Given the description of an element on the screen output the (x, y) to click on. 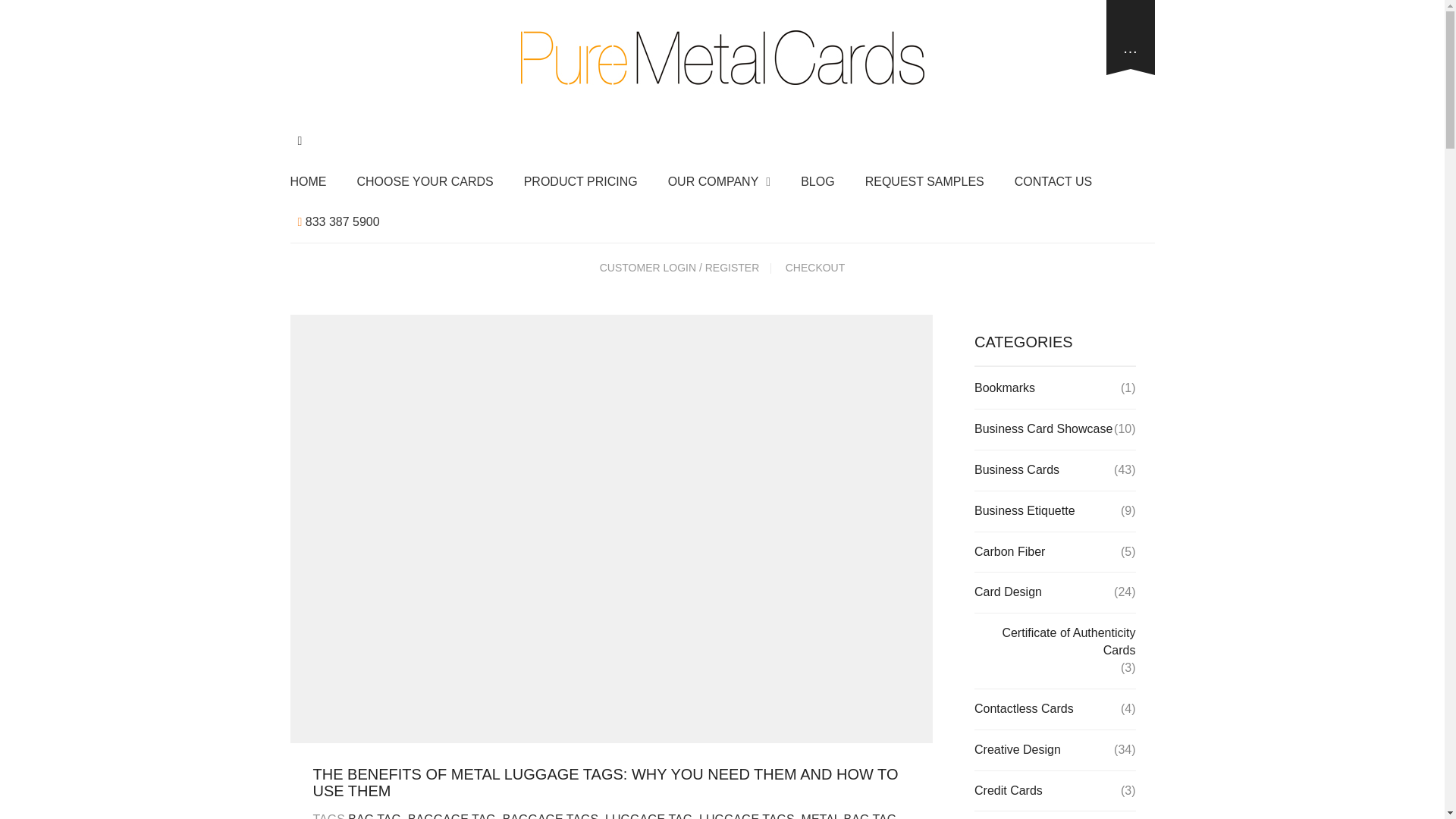
HOME (311, 182)
REQUEST SAMPLES (924, 182)
833 387 5900 (338, 222)
OUR COMPANY (719, 182)
PRODUCT PRICING (580, 182)
CHECKOUT (815, 267)
CONTACT US (1053, 182)
CHOOSE YOUR CARDS (424, 182)
BLOG (817, 182)
